Given the description of an element on the screen output the (x, y) to click on. 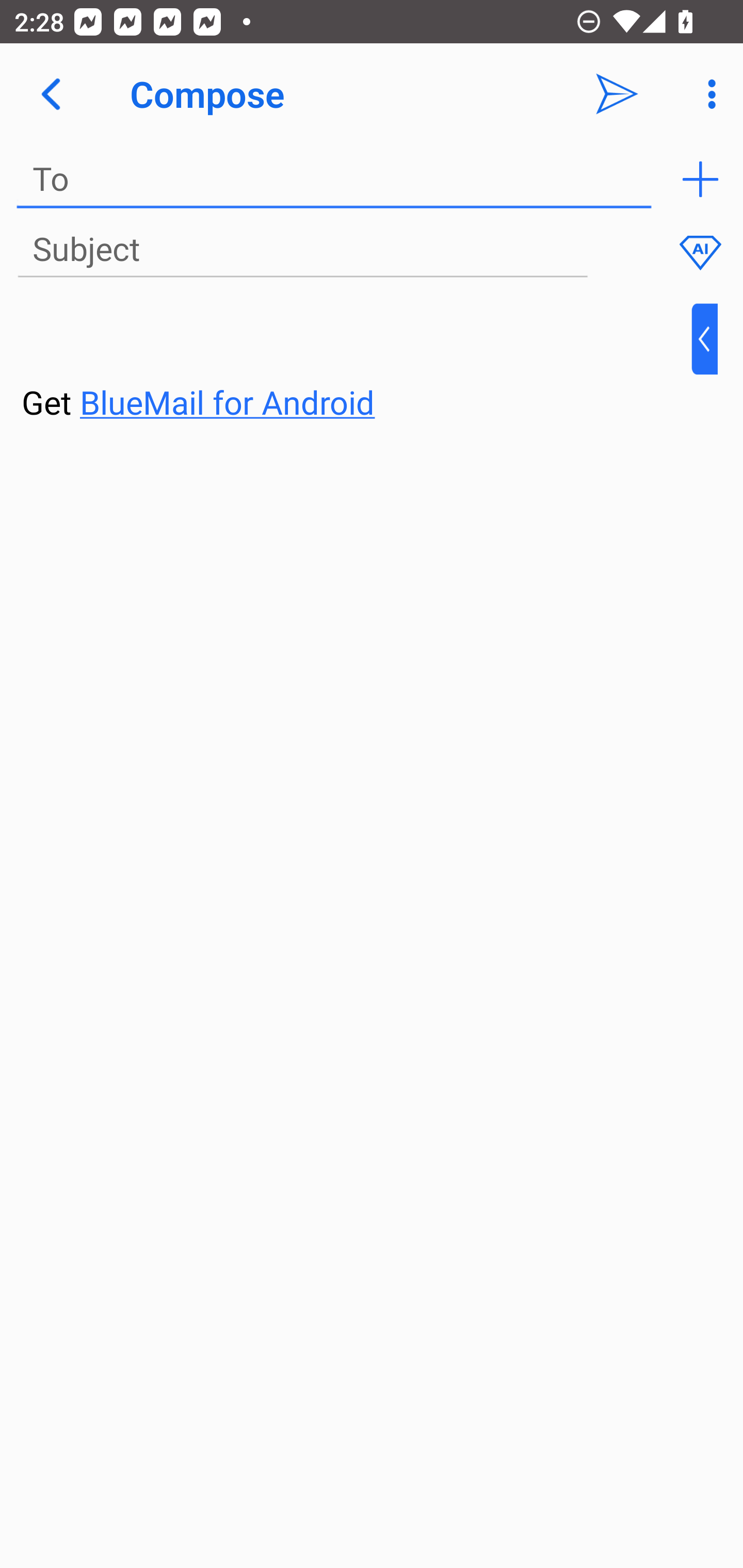
Navigate up (50, 93)
Send (616, 93)
More Options (706, 93)
To (334, 179)
Add recipient (To) (699, 179)
Subject (302, 249)


⁣Get BlueMail for Android ​ (355, 363)
